Given the description of an element on the screen output the (x, y) to click on. 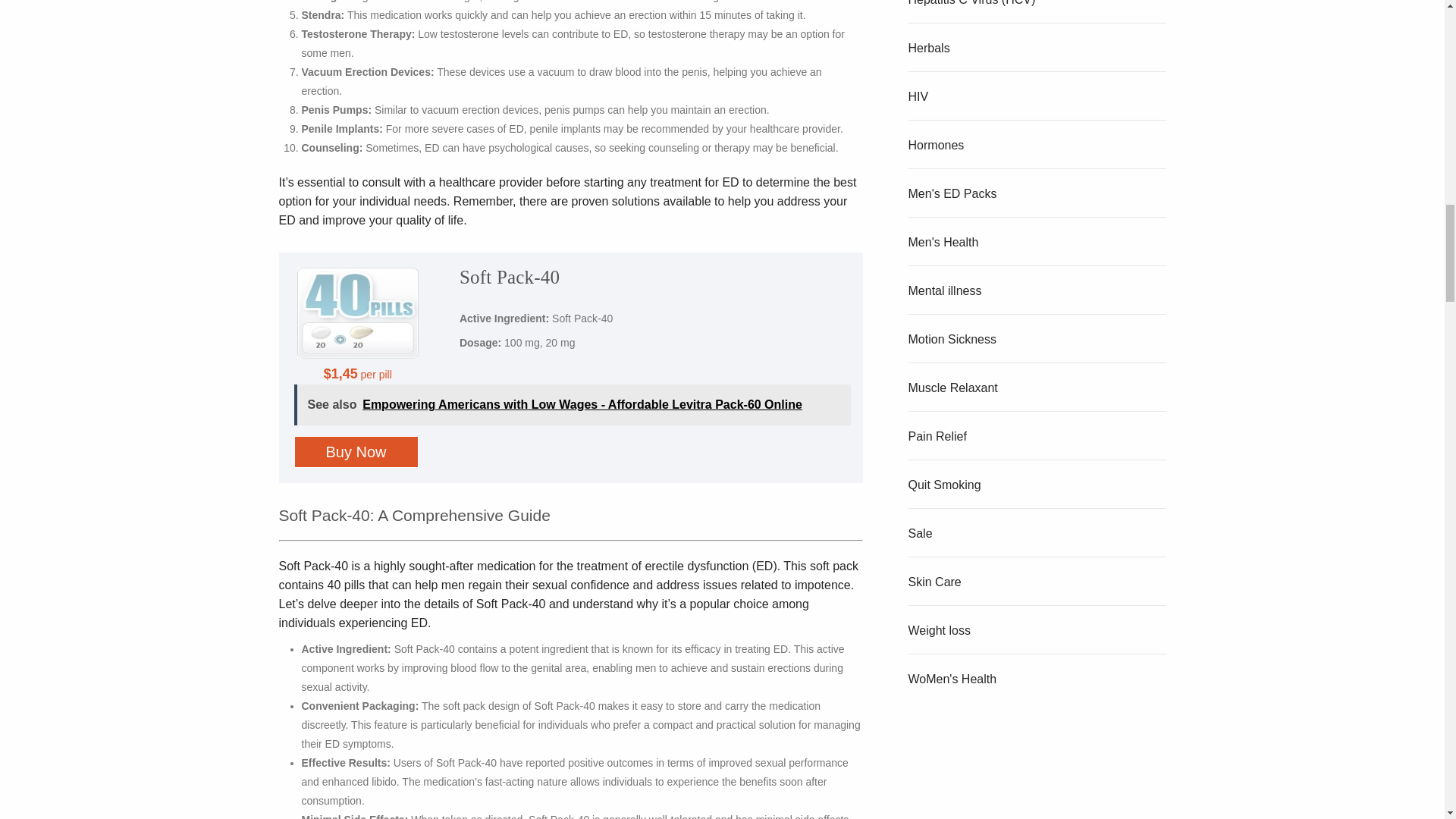
Buy Now (356, 451)
Buy Now (356, 451)
